Given the description of an element on the screen output the (x, y) to click on. 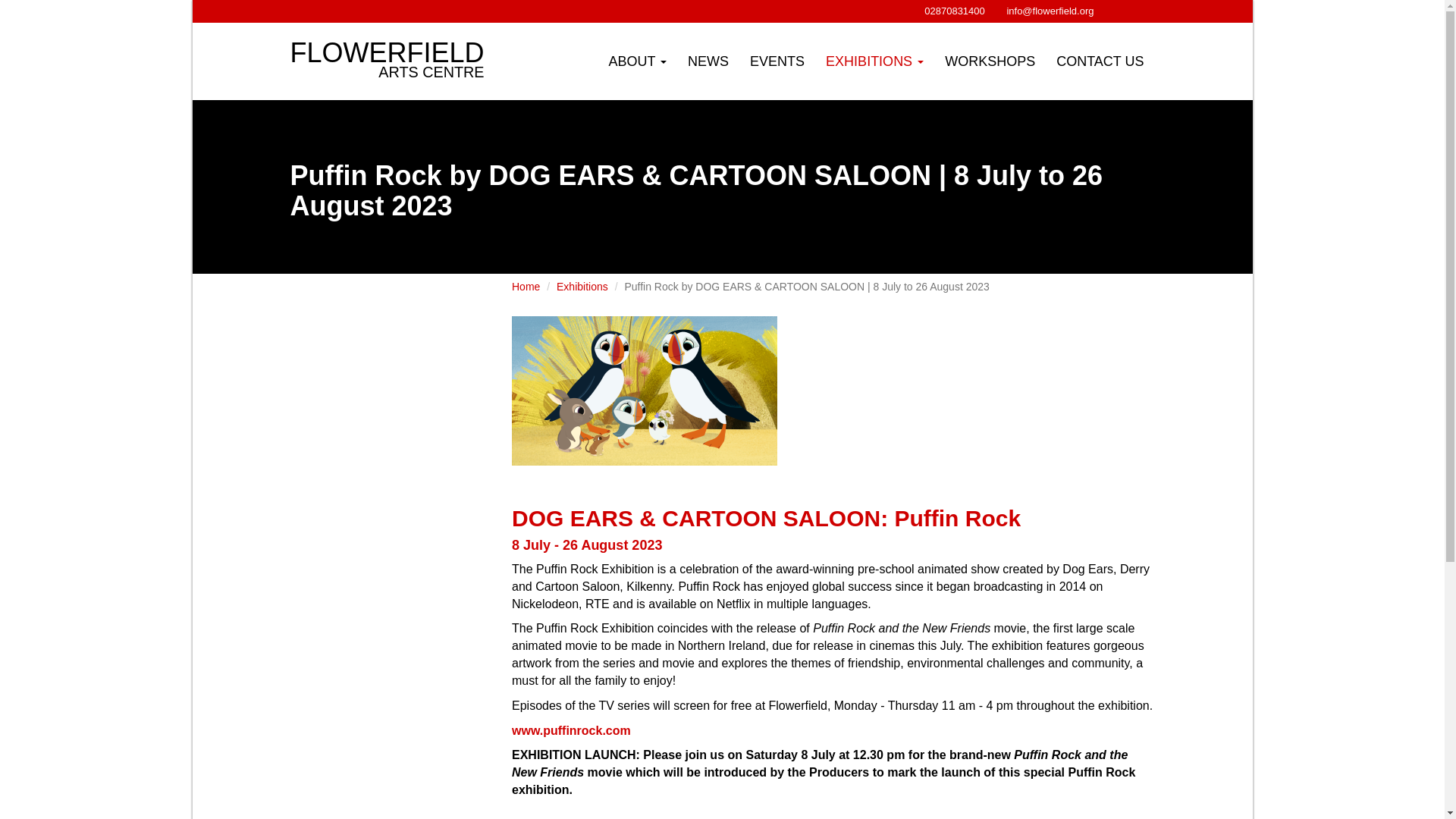
EXHIBITIONS (387, 41)
ABOUT (874, 60)
EVENTS (636, 60)
02870831400 (777, 60)
